Given the description of an element on the screen output the (x, y) to click on. 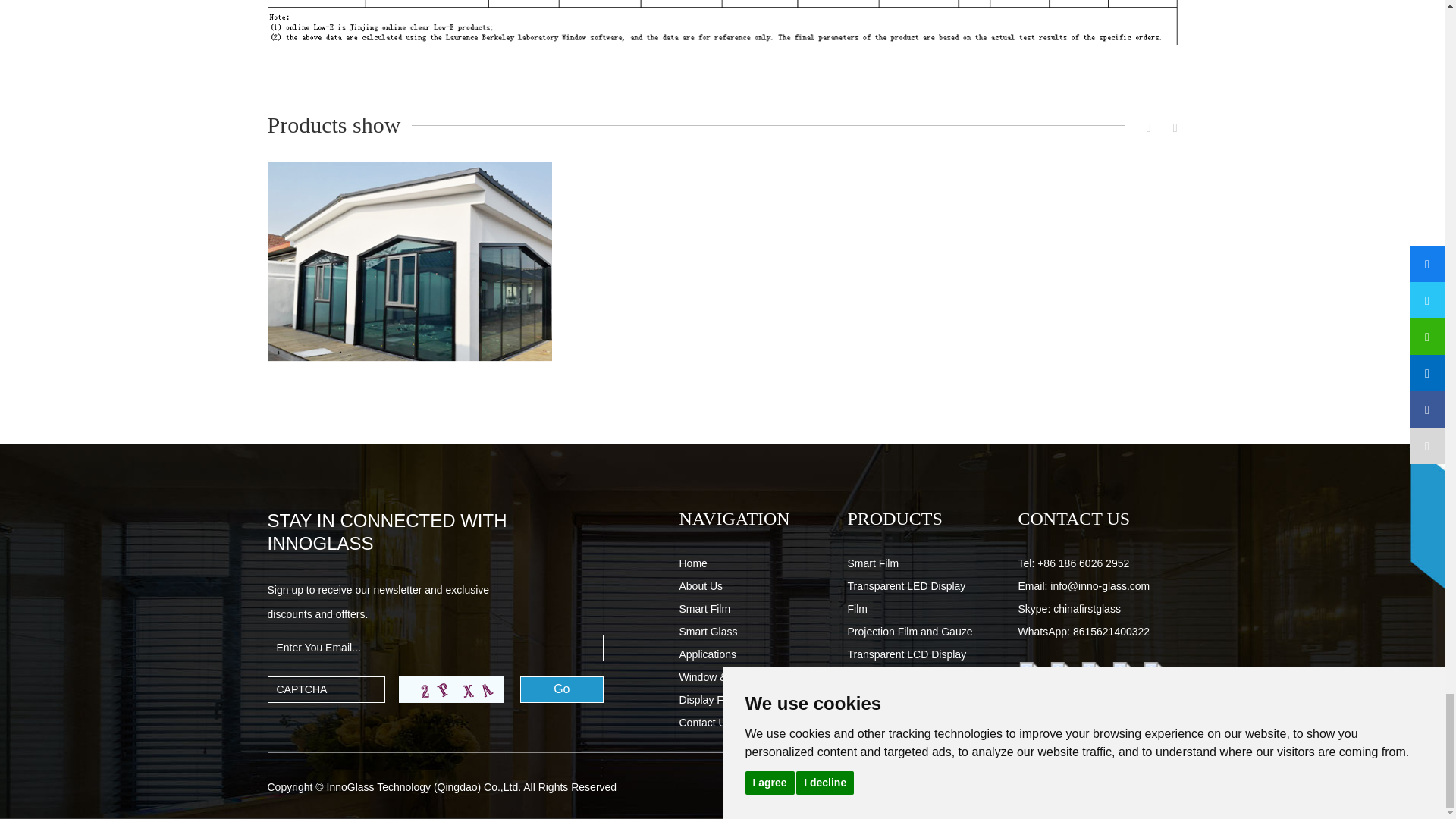
Go (560, 689)
